Given the description of an element on the screen output the (x, y) to click on. 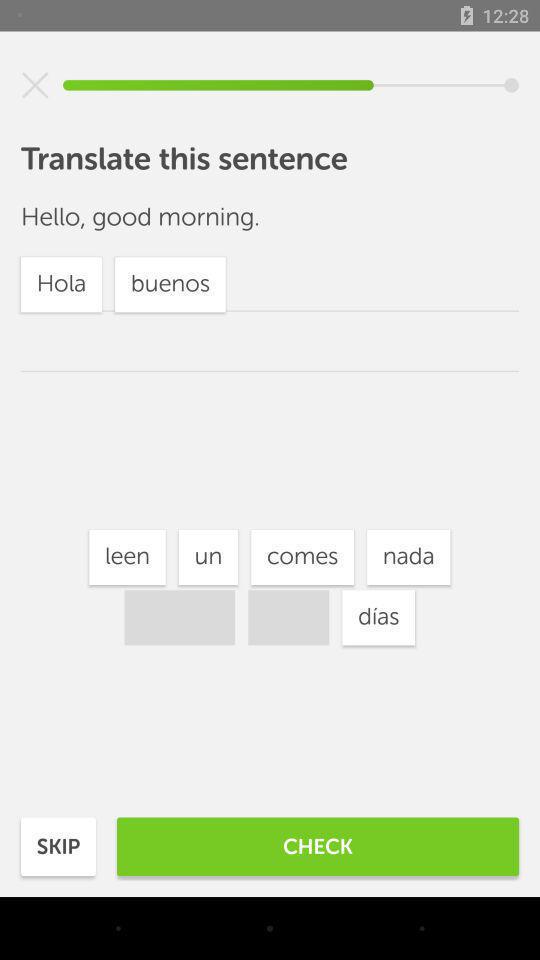
turn on the item above buenos (127, 557)
